Given the description of an element on the screen output the (x, y) to click on. 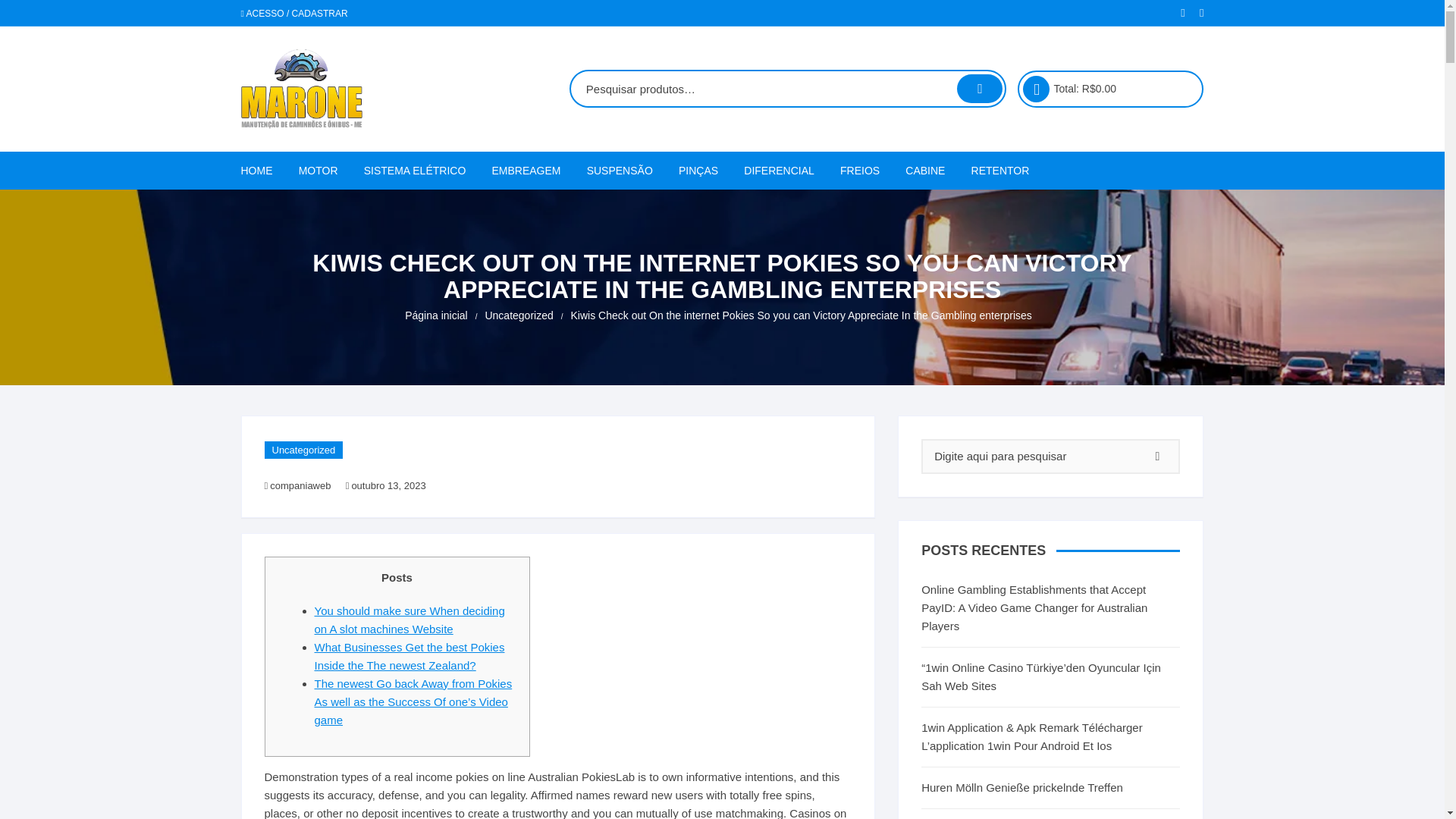
FREIOS (859, 170)
EMBREAGEM (526, 170)
HOME (262, 170)
CABINE (924, 170)
DIFERENCIAL (778, 170)
MOTOR (317, 170)
RETENTOR (1000, 170)
